Given the description of an element on the screen output the (x, y) to click on. 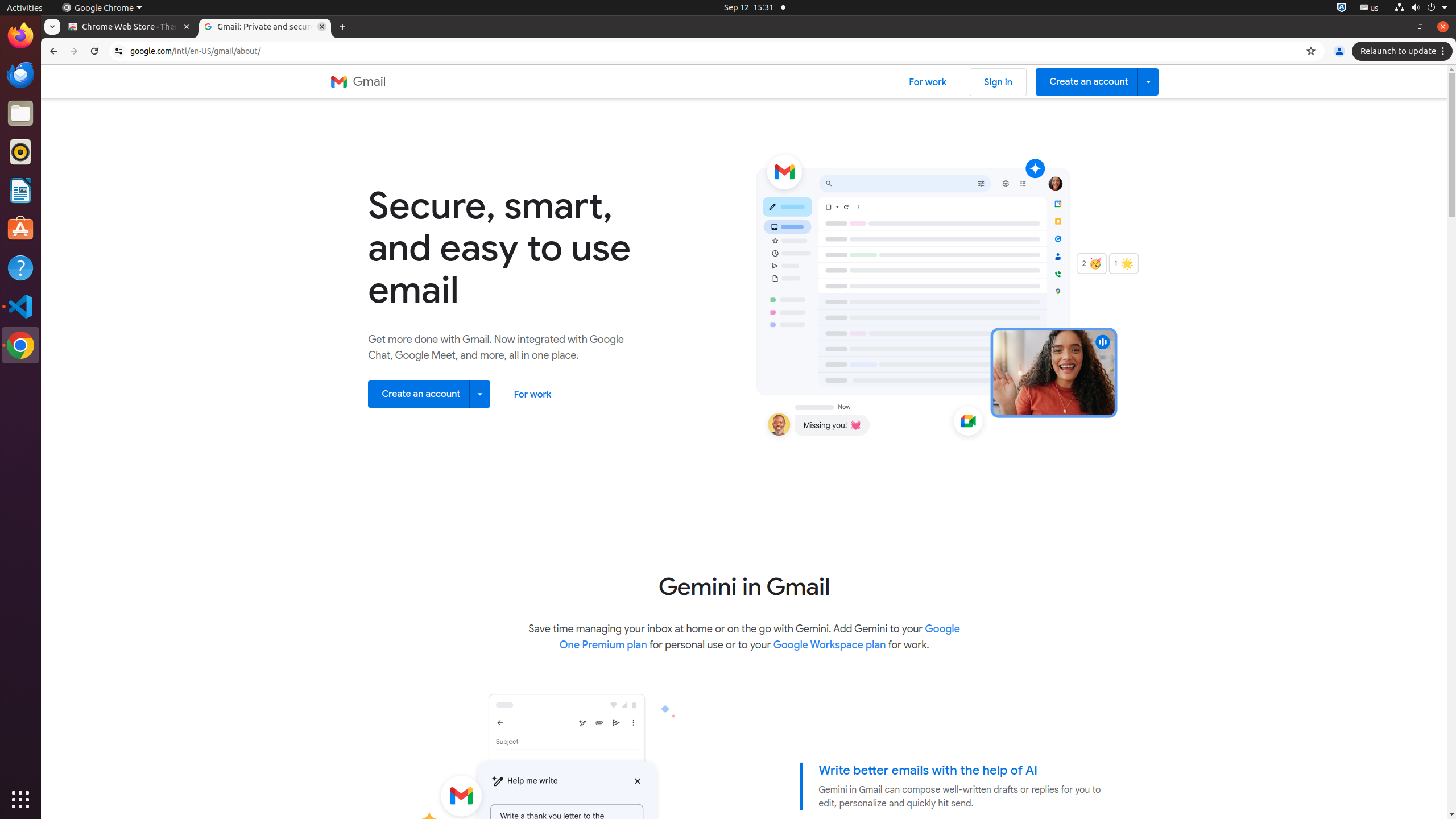
Create an account Element type: toggle-button (1096, 81)
You Element type: push-button (1339, 50)
:1.21/StatusNotifierItem Element type: menu (1369, 7)
Google Chrome Element type: push-button (20, 344)
View site information Element type: push-button (118, 51)
